Given the description of an element on the screen output the (x, y) to click on. 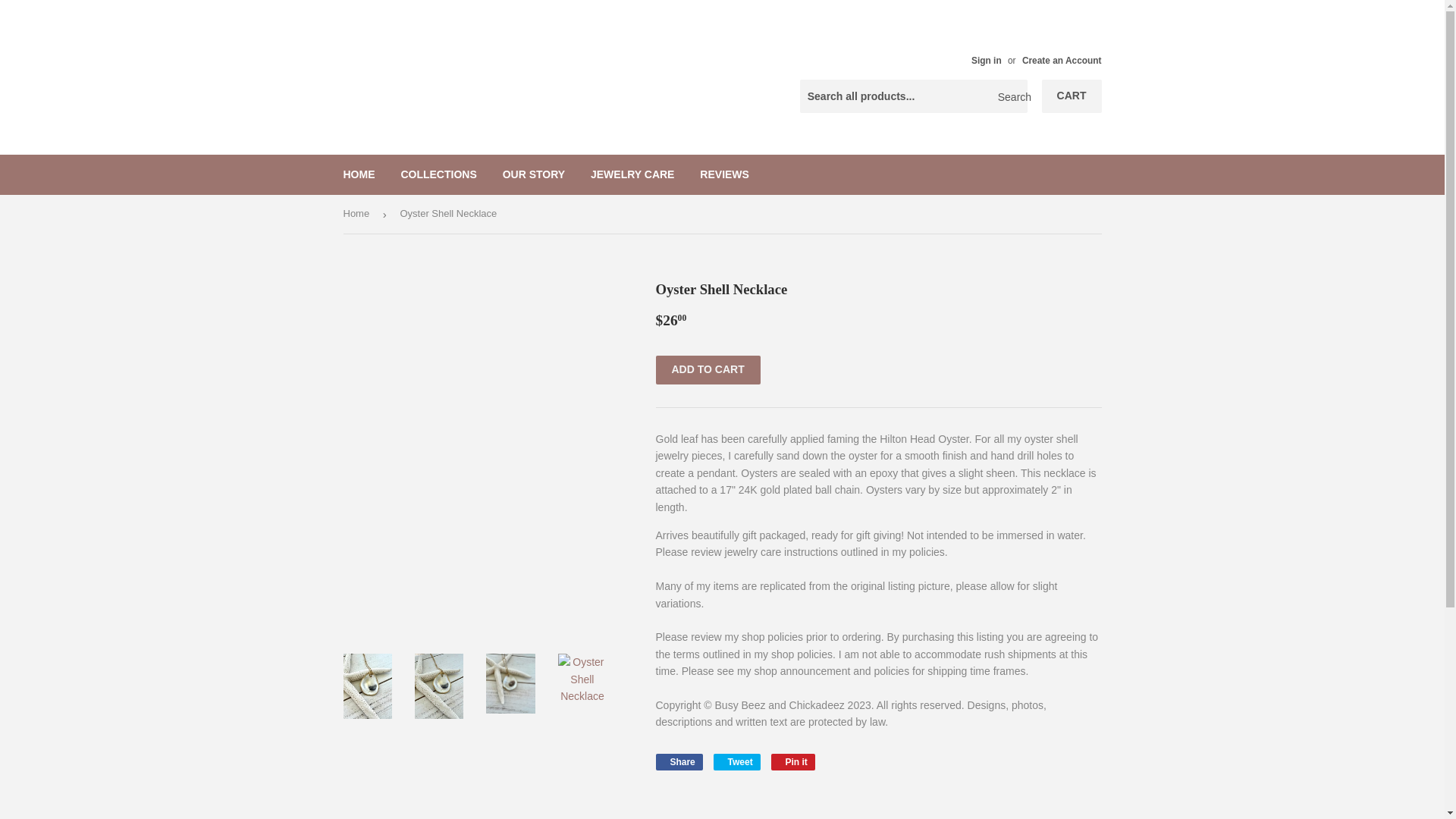
CART (736, 761)
Share on Facebook (1072, 96)
HOME (678, 761)
Pin on Pinterest (678, 761)
OUR STORY (359, 174)
REVIEWS (793, 761)
Search (534, 174)
Tweet on Twitter (724, 174)
